Given the description of an element on the screen output the (x, y) to click on. 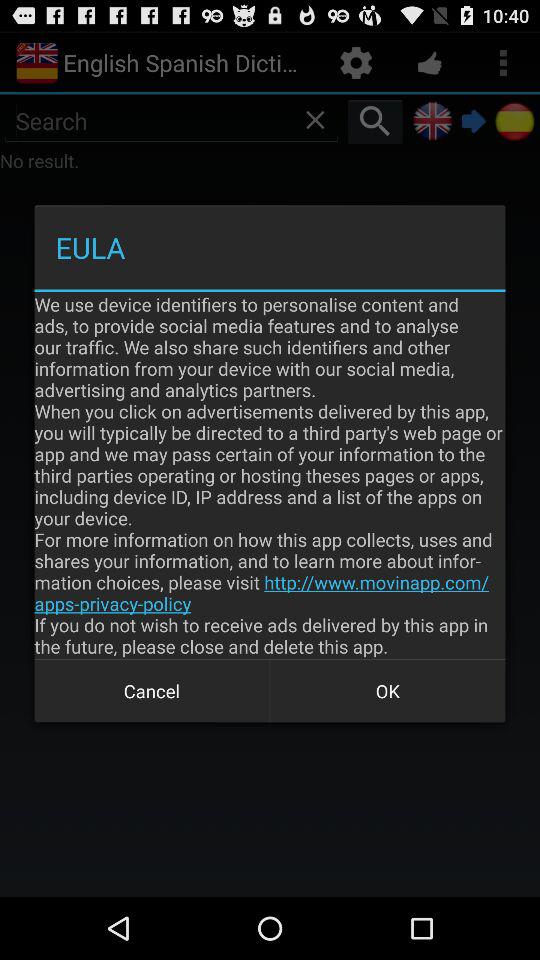
open the button next to the cancel icon (387, 690)
